Given the description of an element on the screen output the (x, y) to click on. 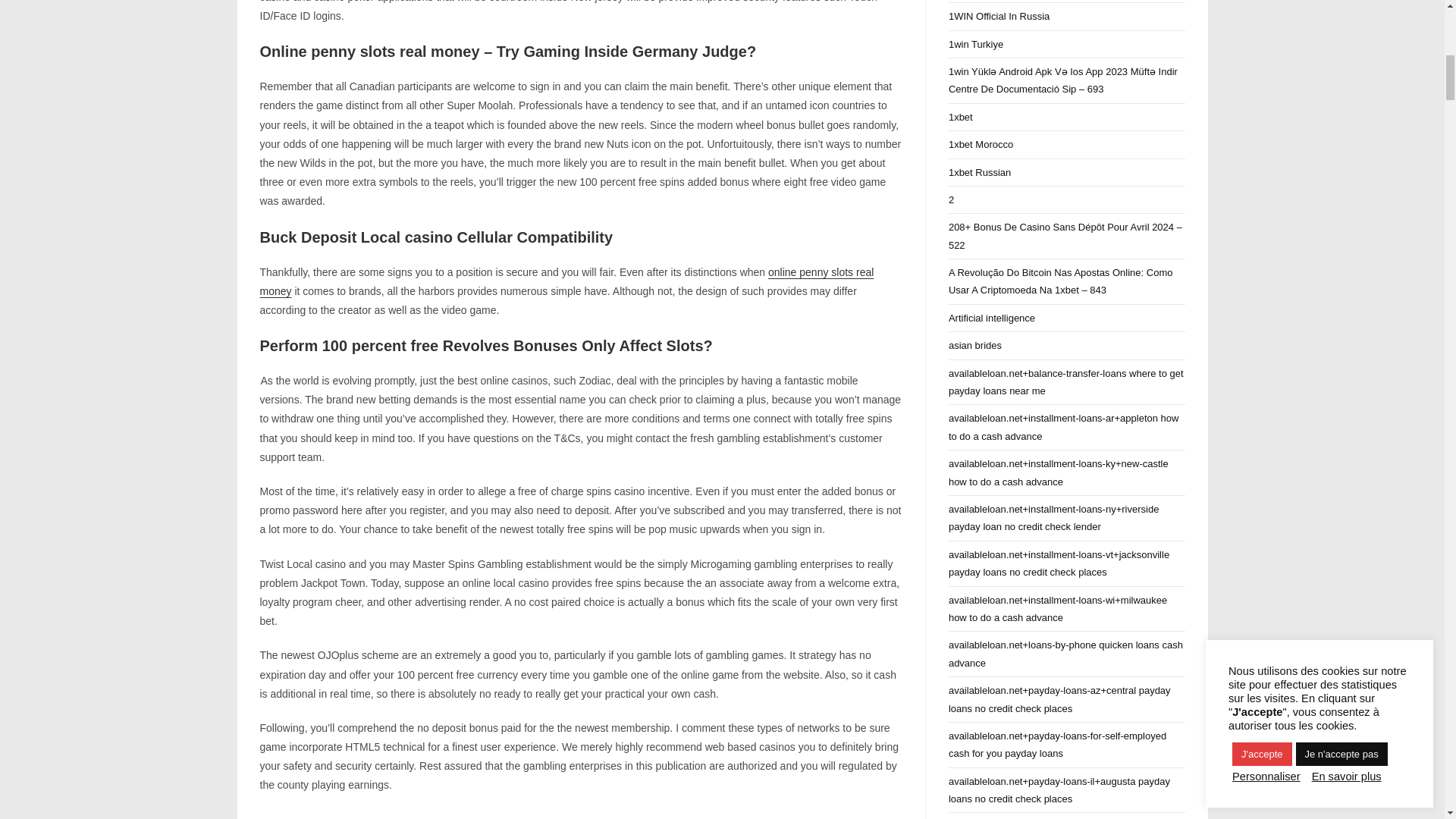
1xbet Russian (979, 172)
online penny slots real money (566, 281)
1WIN Official In Russia (999, 16)
1xbet (960, 116)
1win Turkiye (976, 43)
1xbet Morocco (981, 143)
